Given the description of an element on the screen output the (x, y) to click on. 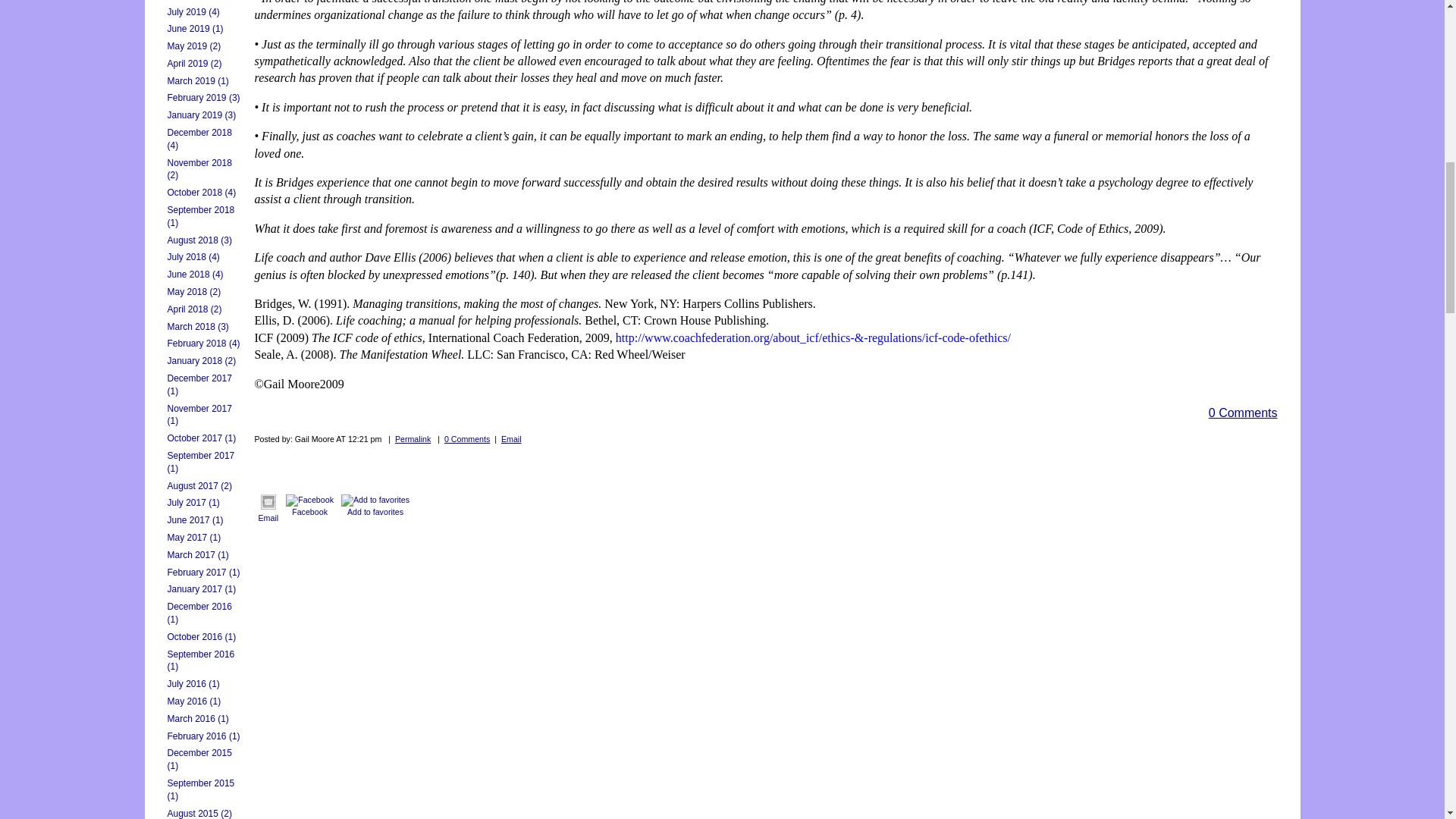
Facebook (309, 500)
Email (268, 501)
Add to favorites (374, 500)
